Given the description of an element on the screen output the (x, y) to click on. 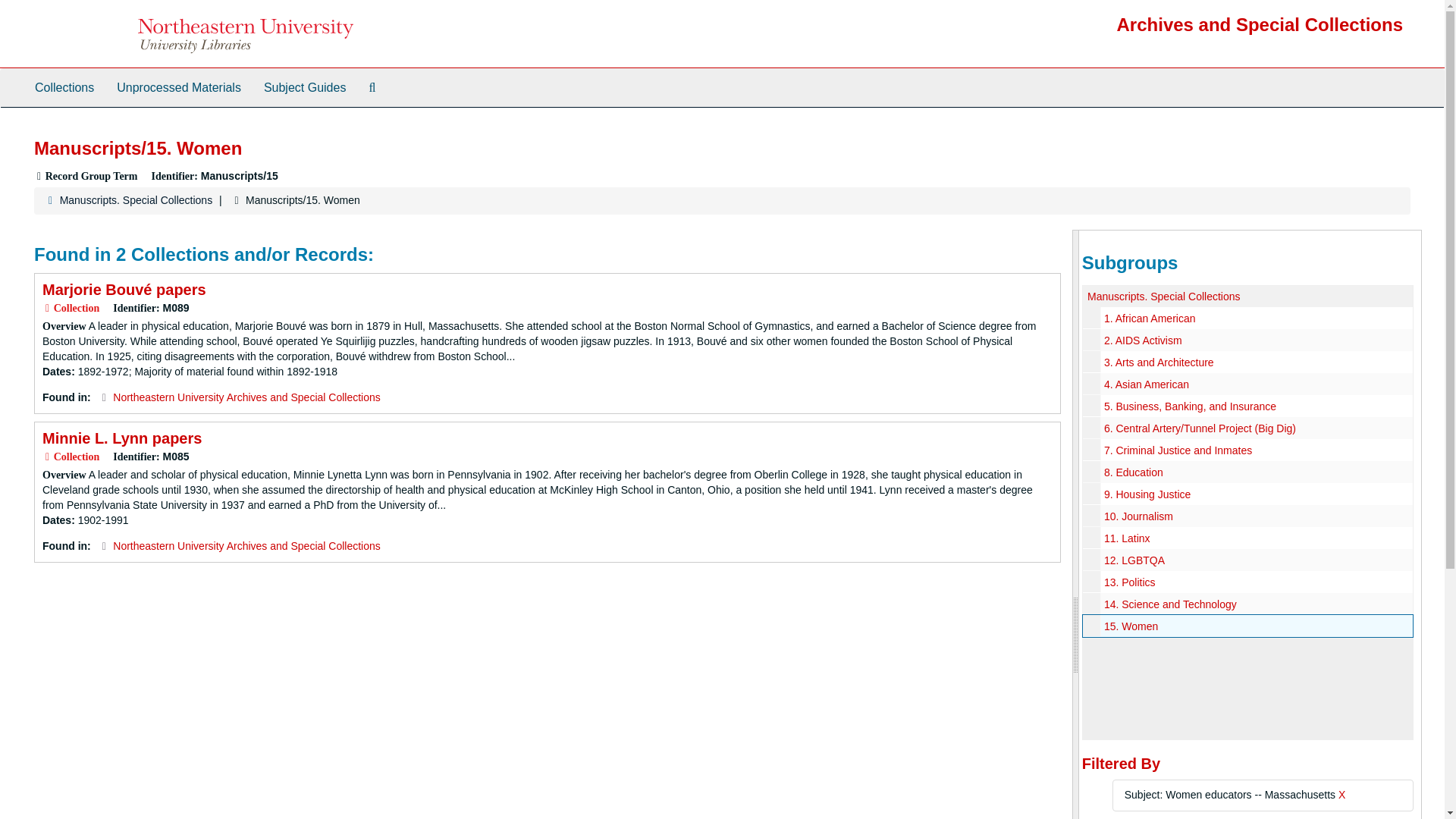
Minnie L. Lynn papers (122, 437)
Latinx (1247, 537)
Politics (1247, 581)
Science and Technology (1247, 603)
Women (1247, 626)
Collections (63, 87)
Arts and Architecture (1247, 362)
Archives and Special Collections (1259, 24)
2. AIDS Activism (1142, 340)
1. African American (1149, 318)
Business, Banking, and Insurance (1247, 405)
3. Arts and Architecture (1158, 362)
African American (1247, 318)
Manuscripts. Special Collections (1163, 296)
Unprocessed Materials (177, 87)
